Given the description of an element on the screen output the (x, y) to click on. 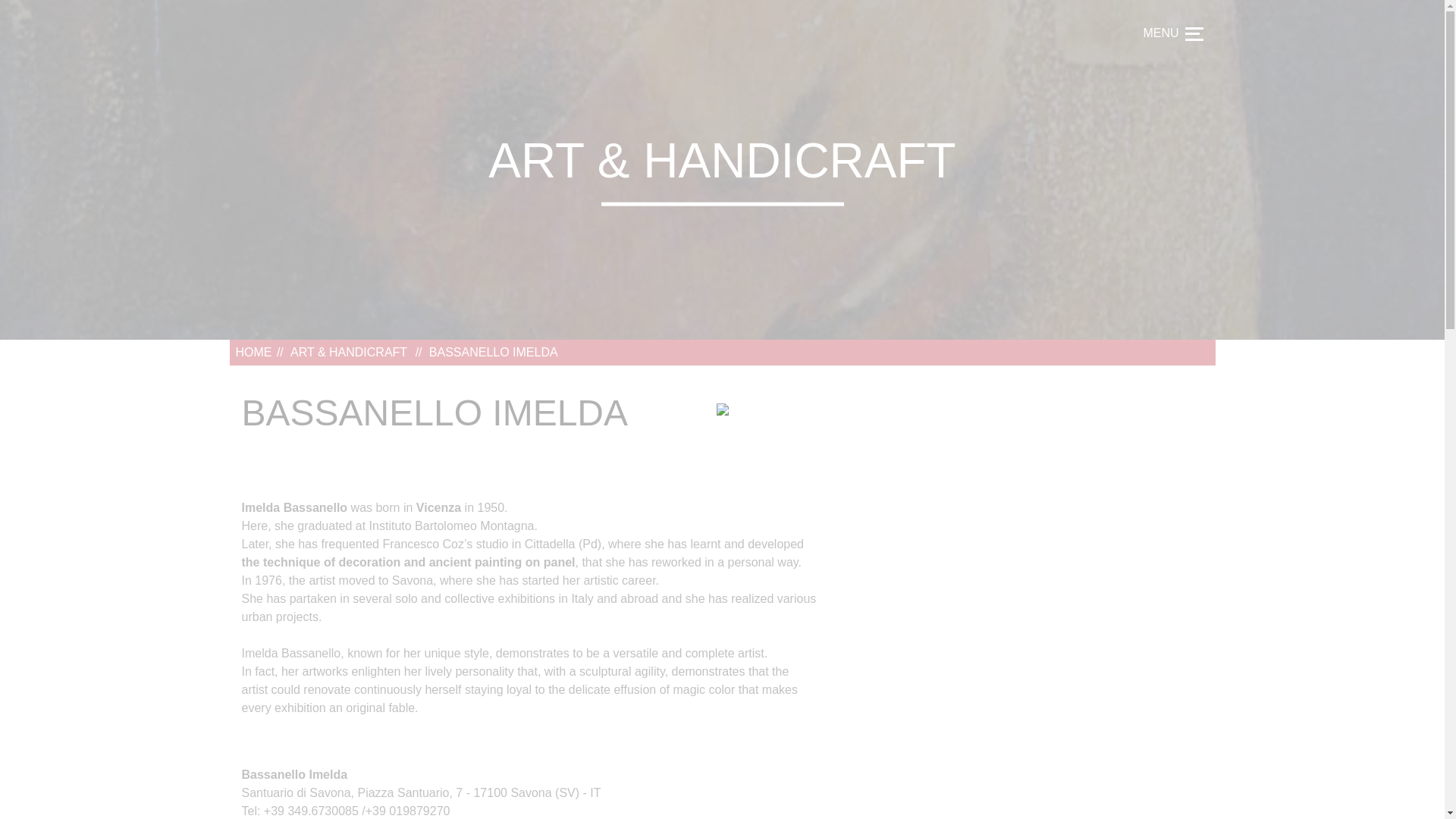
MENU (1172, 33)
Page 1 (529, 607)
Orizzonte Italia Magazine (280, 45)
HOME (252, 351)
